Given the description of an element on the screen output the (x, y) to click on. 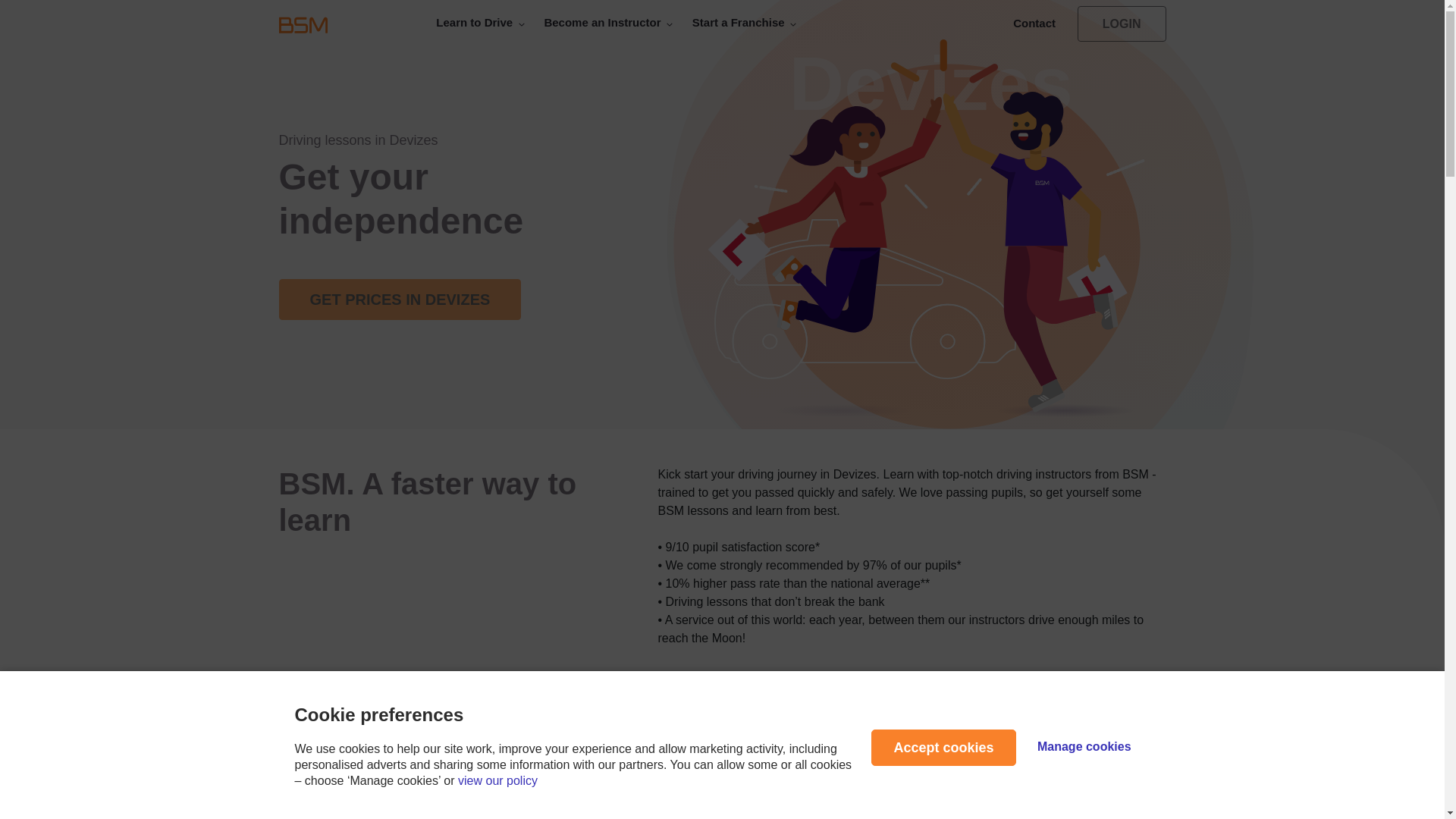
GET PRICES IN DEVIZES (400, 299)
Accept cookies (942, 747)
view our policy (497, 780)
Manage cookies (1083, 746)
Become an Instructor (608, 22)
LOGIN (1121, 23)
Start a Franchise (744, 22)
Contact (1033, 22)
Learn to Drive (480, 22)
